Given the description of an element on the screen output the (x, y) to click on. 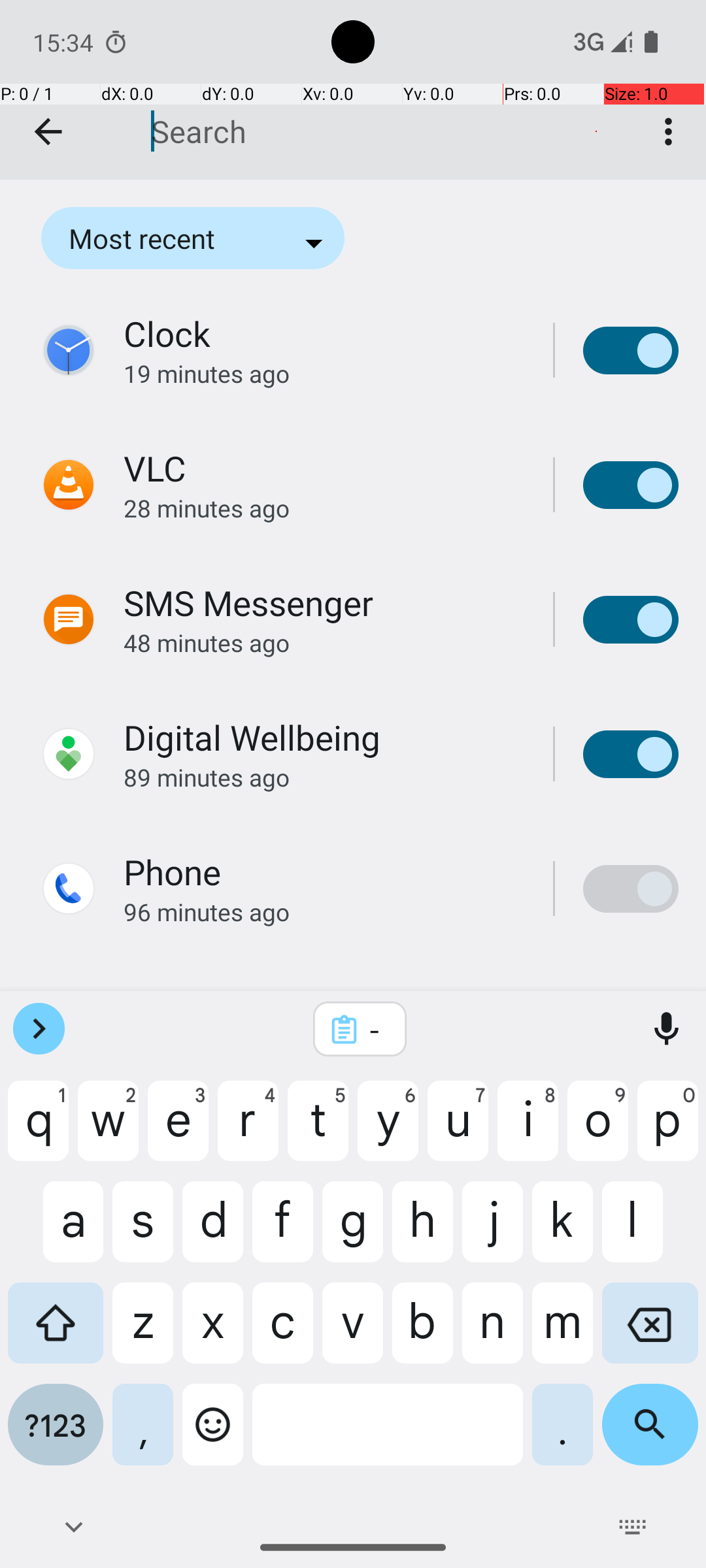
19 minutes ago Element type: android.widget.TextView (324, 373)
28 minutes ago Element type: android.widget.TextView (324, 507)
48 minutes ago Element type: android.widget.TextView (324, 642)
89 minutes ago Element type: android.widget.TextView (324, 776)
96 minutes ago Element type: android.widget.TextView (324, 911)
